Given the description of an element on the screen output the (x, y) to click on. 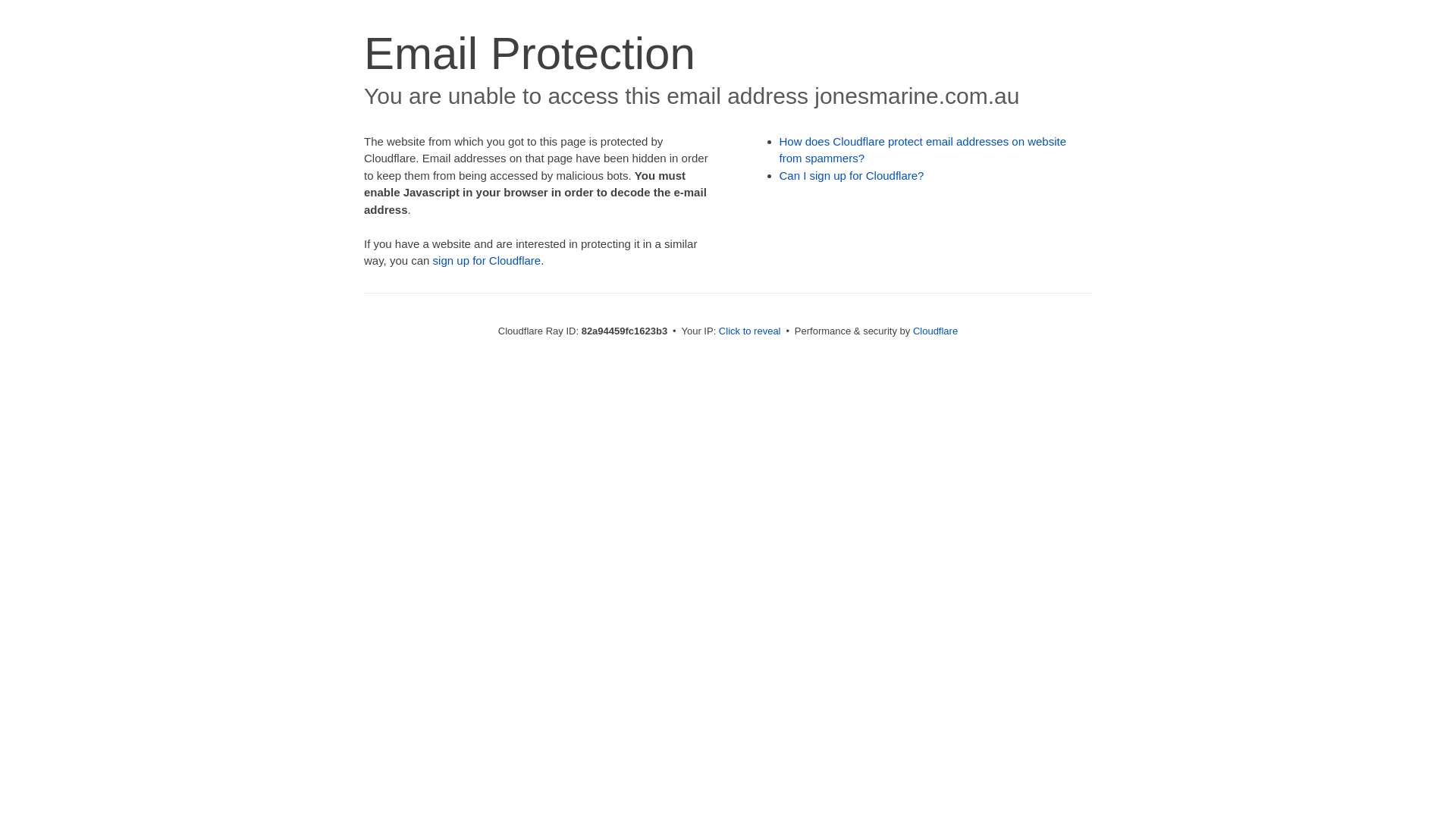
sign up for Cloudflare Element type: text (487, 260)
Can I sign up for Cloudflare? Element type: text (851, 175)
Click to reveal Element type: text (749, 330)
Cloudflare Element type: text (935, 330)
